Given the description of an element on the screen output the (x, y) to click on. 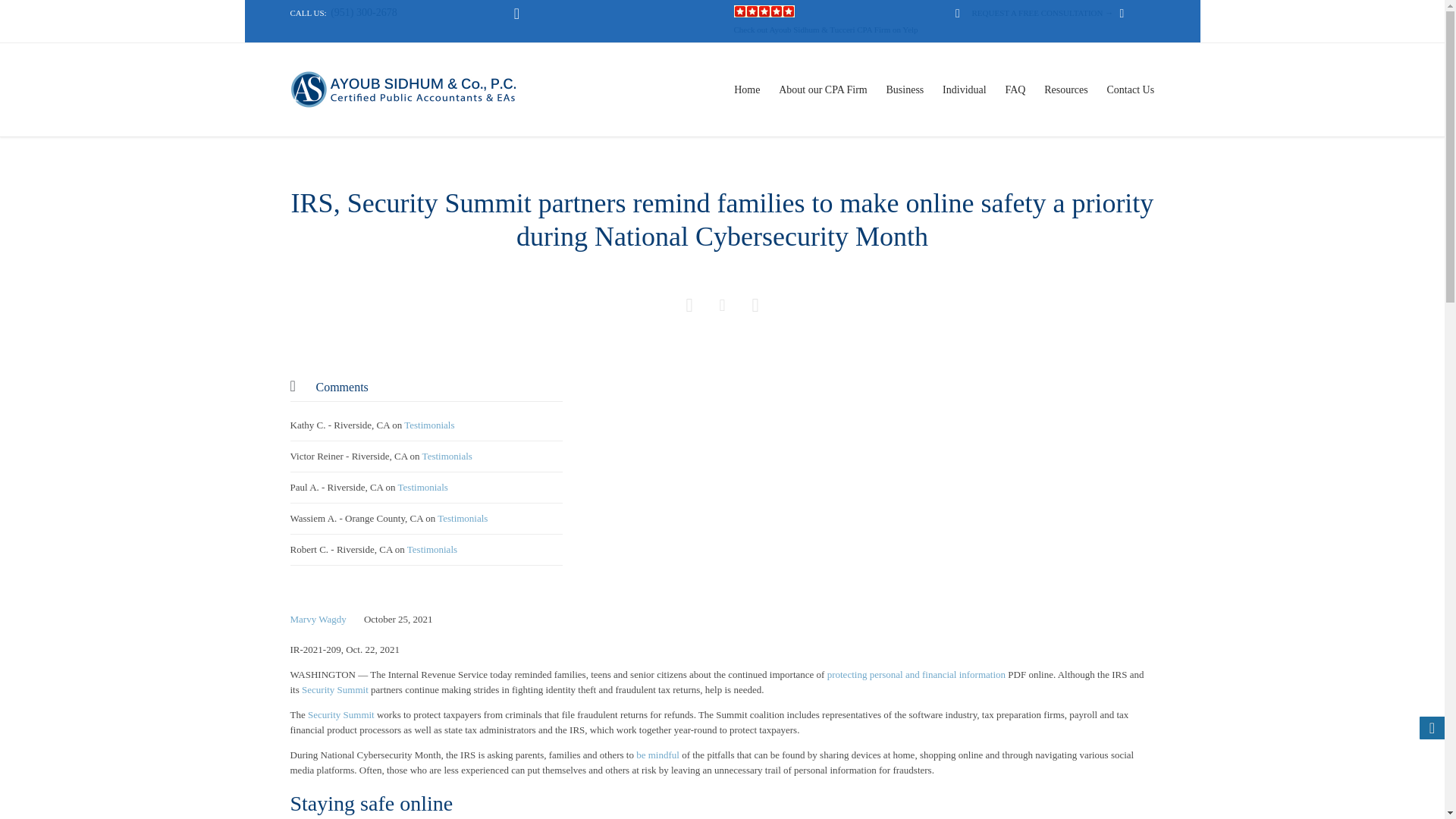
About Riverside Tax and Accounting  (747, 89)
Resources (1066, 89)
Business Accounting Service (904, 89)
FAQ (1015, 89)
Testimonials (422, 487)
Tax and Accounting FAQ (1015, 89)
Testimonials (432, 549)
Testimonials (462, 518)
